Given the description of an element on the screen output the (x, y) to click on. 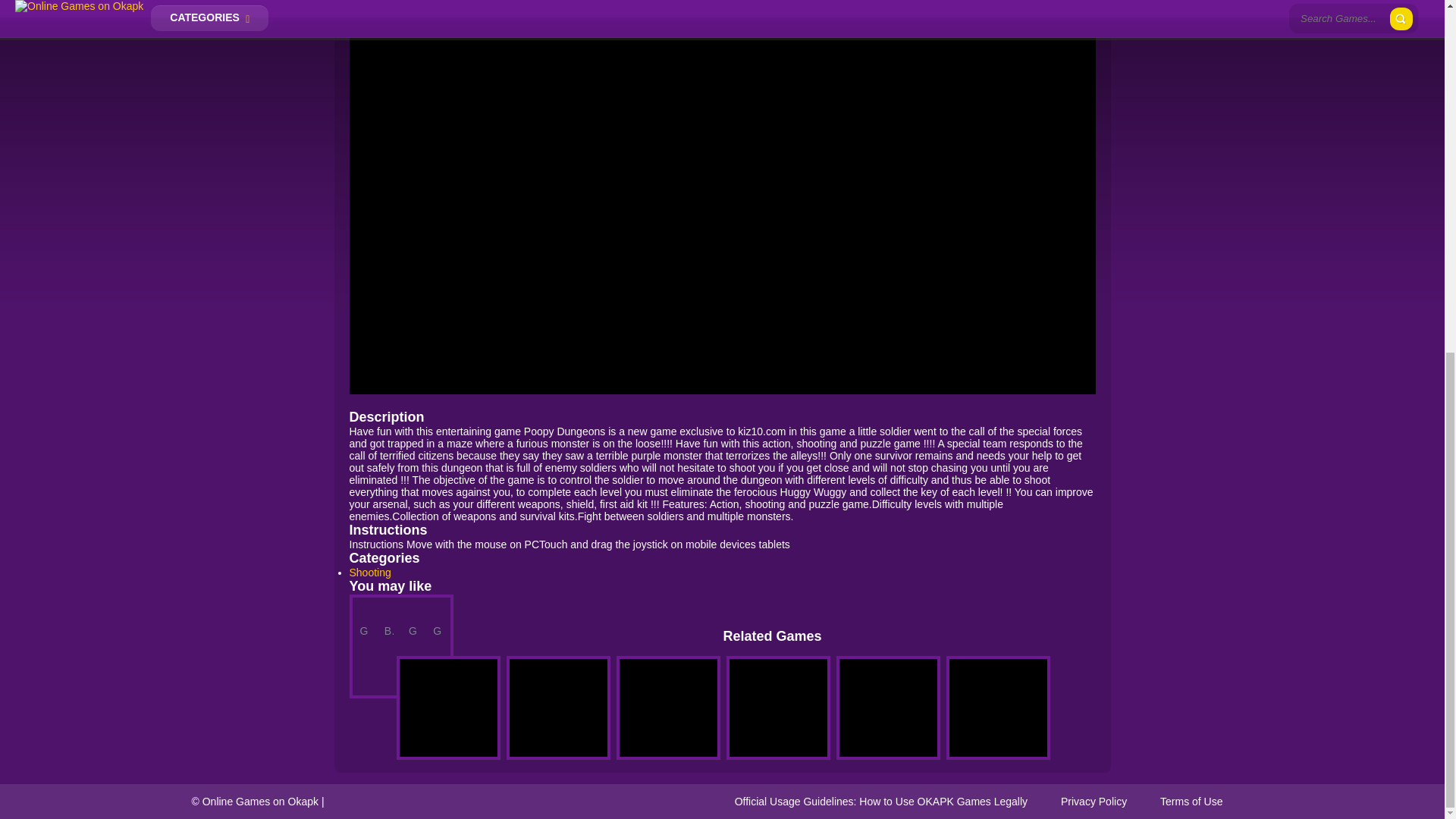
Girls (363, 624)
Terms of Use (1191, 800)
Official Usage Guidelines: How to Use OKAPK Games Legally (880, 800)
Fitness Girls Dress Up 3 (413, 616)
Fitness Girls Dress Up 2 (388, 616)
Girls, Hypercasual, Sports (437, 624)
Shooting (369, 572)
Girls (413, 624)
Privacy Policy (1093, 800)
Boys, Girls (388, 624)
Fitness Girls Dress Up 1 (363, 616)
Fitness Girls Dress Up 4 (437, 616)
